Given the description of an element on the screen output the (x, y) to click on. 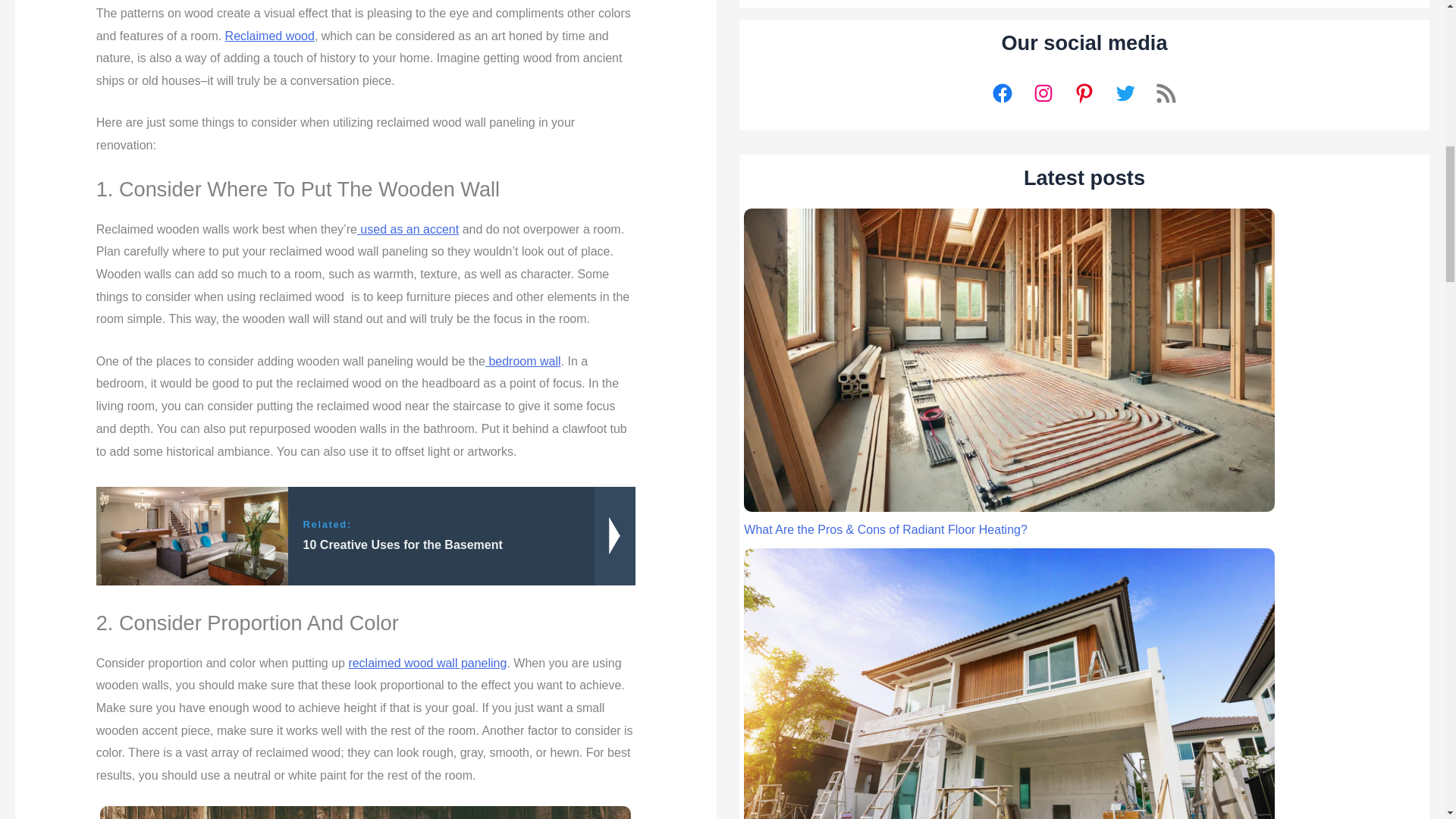
Reclaimed wood (269, 35)
A dark brown wooden wall. (365, 812)
